Given the description of an element on the screen output the (x, y) to click on. 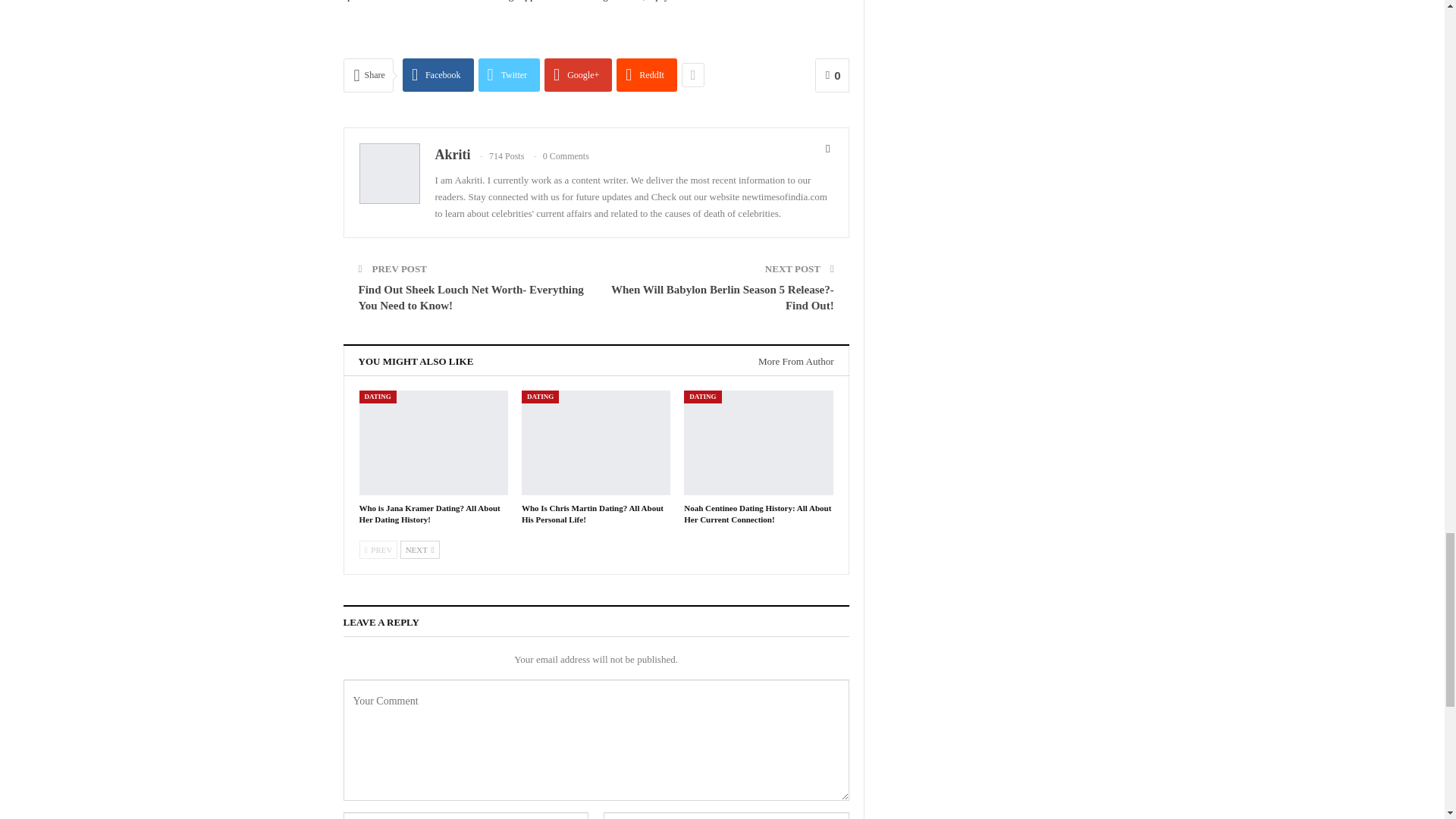
ReddIt (646, 74)
Twitter (509, 74)
Who Is Chris Martin Dating? All About His Personal Life! (595, 442)
Facebook (438, 74)
Who is Jana Kramer Dating? All About Her Dating History! (433, 442)
0 (831, 75)
Who is Jana Kramer Dating? All About Her Dating History! (429, 513)
Who Is Chris Martin Dating? All About His Personal Life! (592, 513)
